Given the description of an element on the screen output the (x, y) to click on. 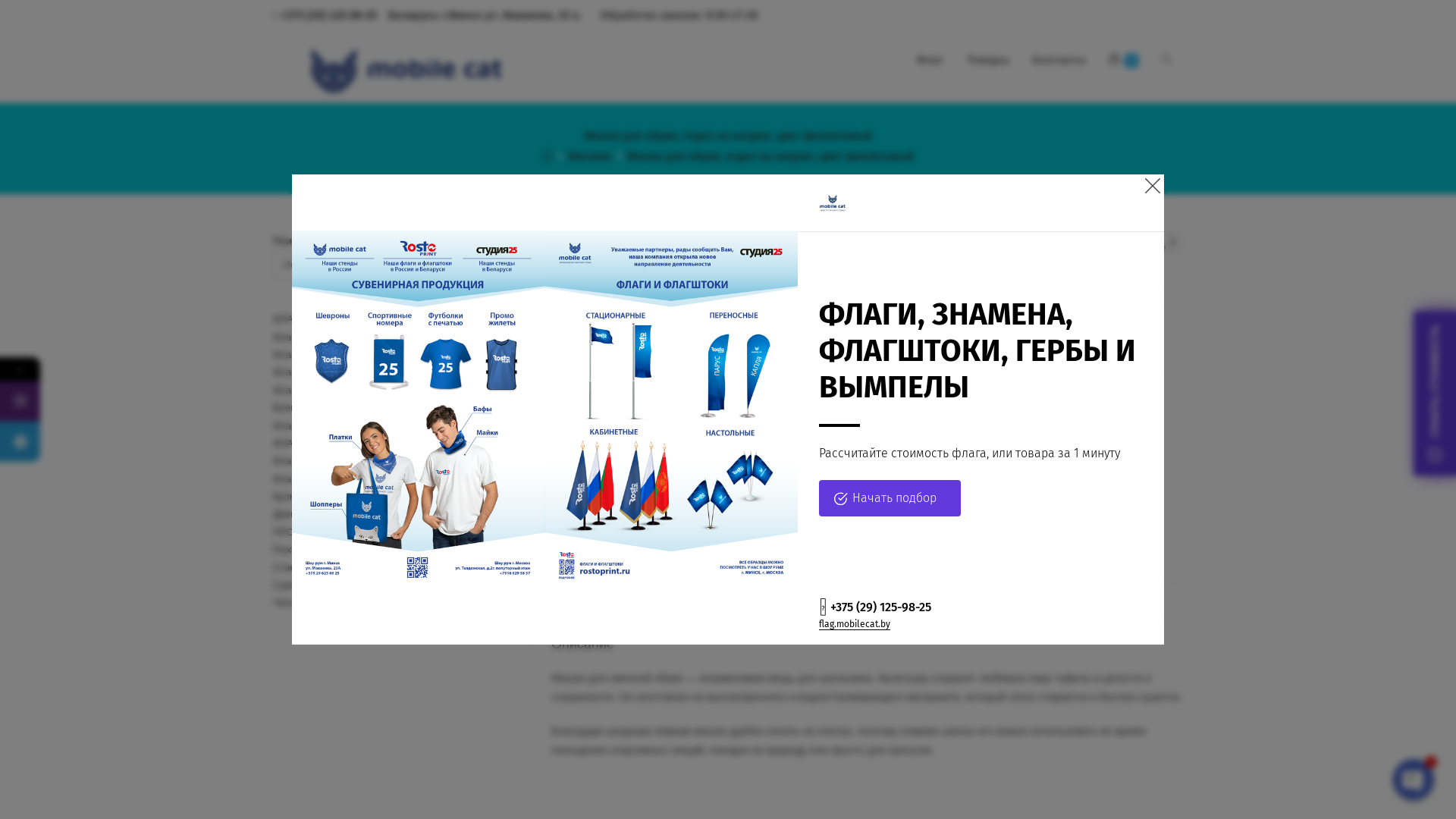
Viber Element type: text (92, 401)
700-nw-234.jpg Element type: hover (715, 396)
Viber Element type: hover (20, 401)
0 Element type: text (1123, 59)
Telegram Element type: text (92, 441)
Telegram Element type: hover (20, 441)
